Given the description of an element on the screen output the (x, y) to click on. 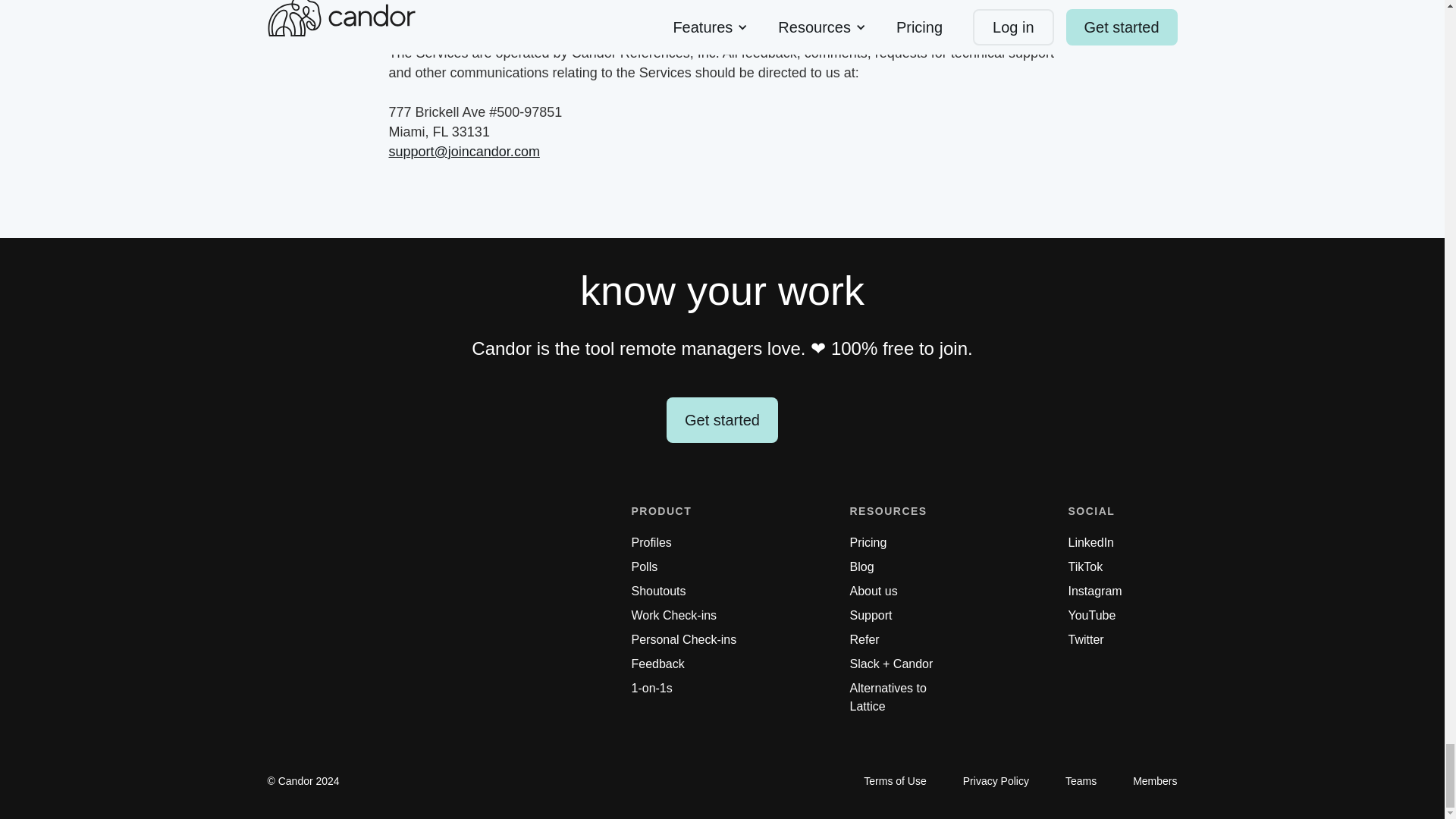
Feedback (657, 663)
Get started (721, 420)
Profiles (650, 542)
Alternatives to Lattice (903, 697)
Support (869, 615)
Refer (863, 639)
Work Check-ins (673, 615)
Shoutouts (657, 591)
Polls (644, 567)
1-on-1s (650, 688)
